Given the description of an element on the screen output the (x, y) to click on. 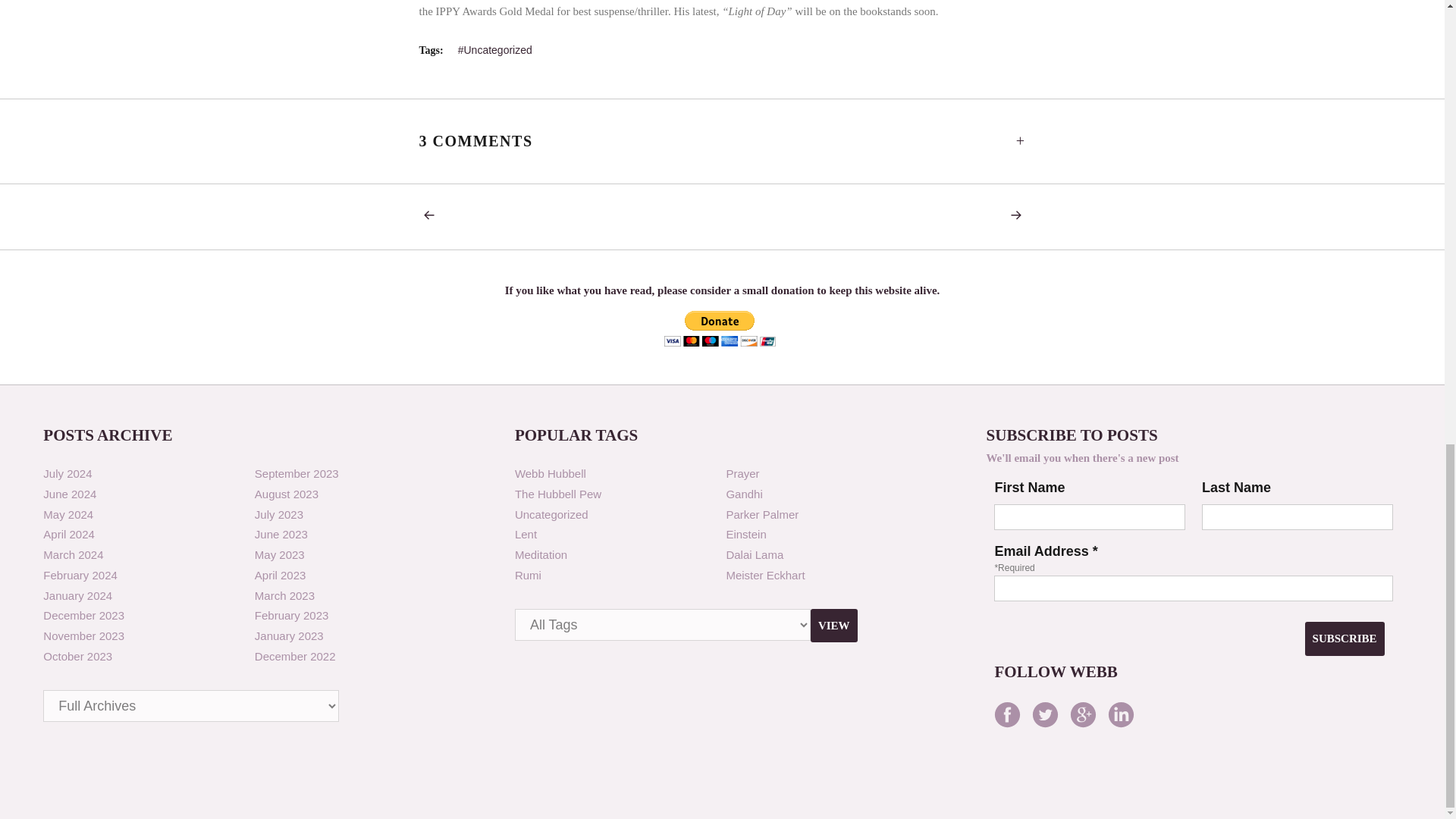
July 2024 (67, 472)
December 2023 (83, 615)
Webb Hubbell Tag (550, 472)
Meister Eckhart Tag (765, 574)
June 2023 (280, 533)
Einstein Tag (745, 533)
Meditation Tag (541, 554)
March 2024 (73, 554)
Subscribe (1344, 638)
Gandhi Tag (743, 493)
Lent Tag (526, 533)
April 2023 (279, 574)
February 2024 (80, 574)
November 2023 (83, 635)
July 2023 (278, 513)
